Given the description of an element on the screen output the (x, y) to click on. 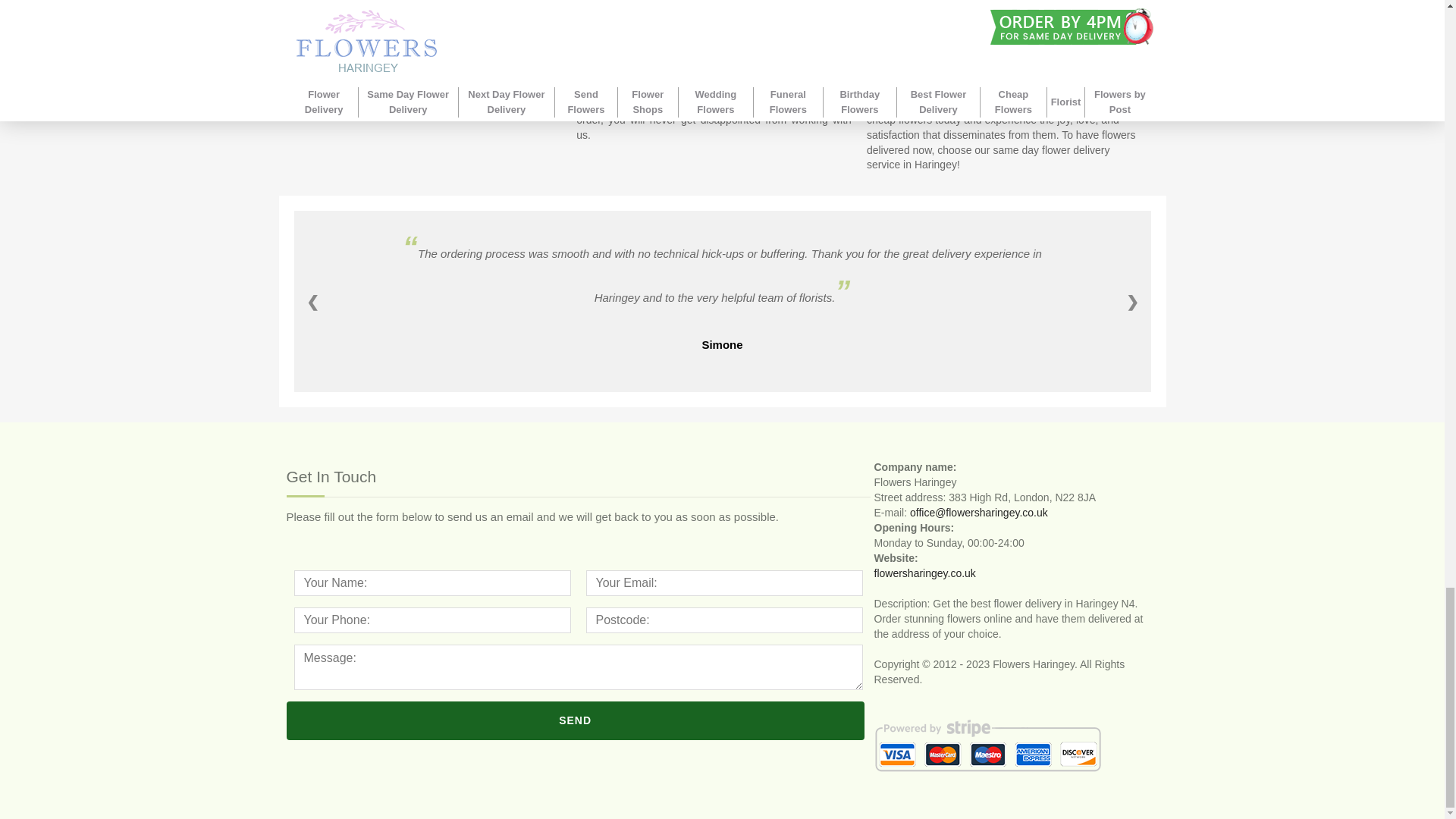
Send (575, 720)
flowersharingey.co.uk (924, 573)
Flowers Haringey website (924, 573)
Send (575, 720)
Send E-mail (979, 512)
